Given the description of an element on the screen output the (x, y) to click on. 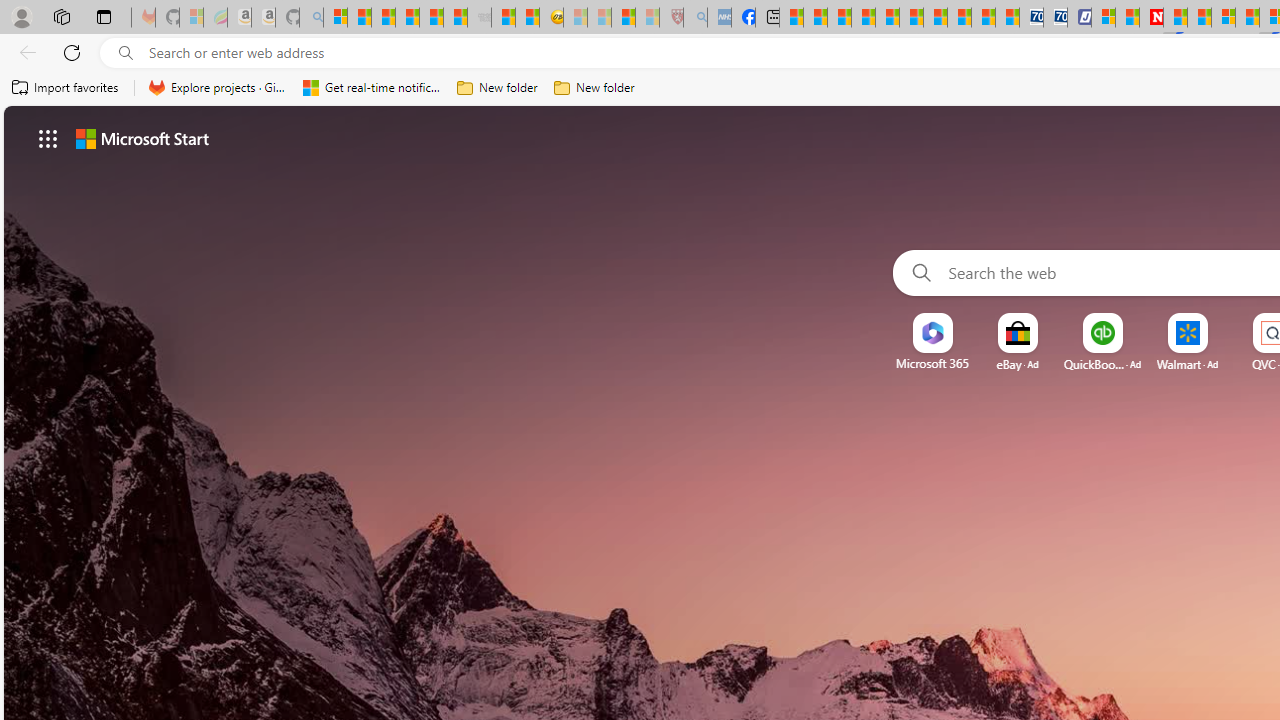
Climate Damage Becomes Too Severe To Reverse (863, 17)
New Report Confirms 2023 Was Record Hot | Watch (430, 17)
Combat Siege - Sleeping (479, 17)
Cheap Hotels - Save70.com (1055, 17)
